Given the description of an element on the screen output the (x, y) to click on. 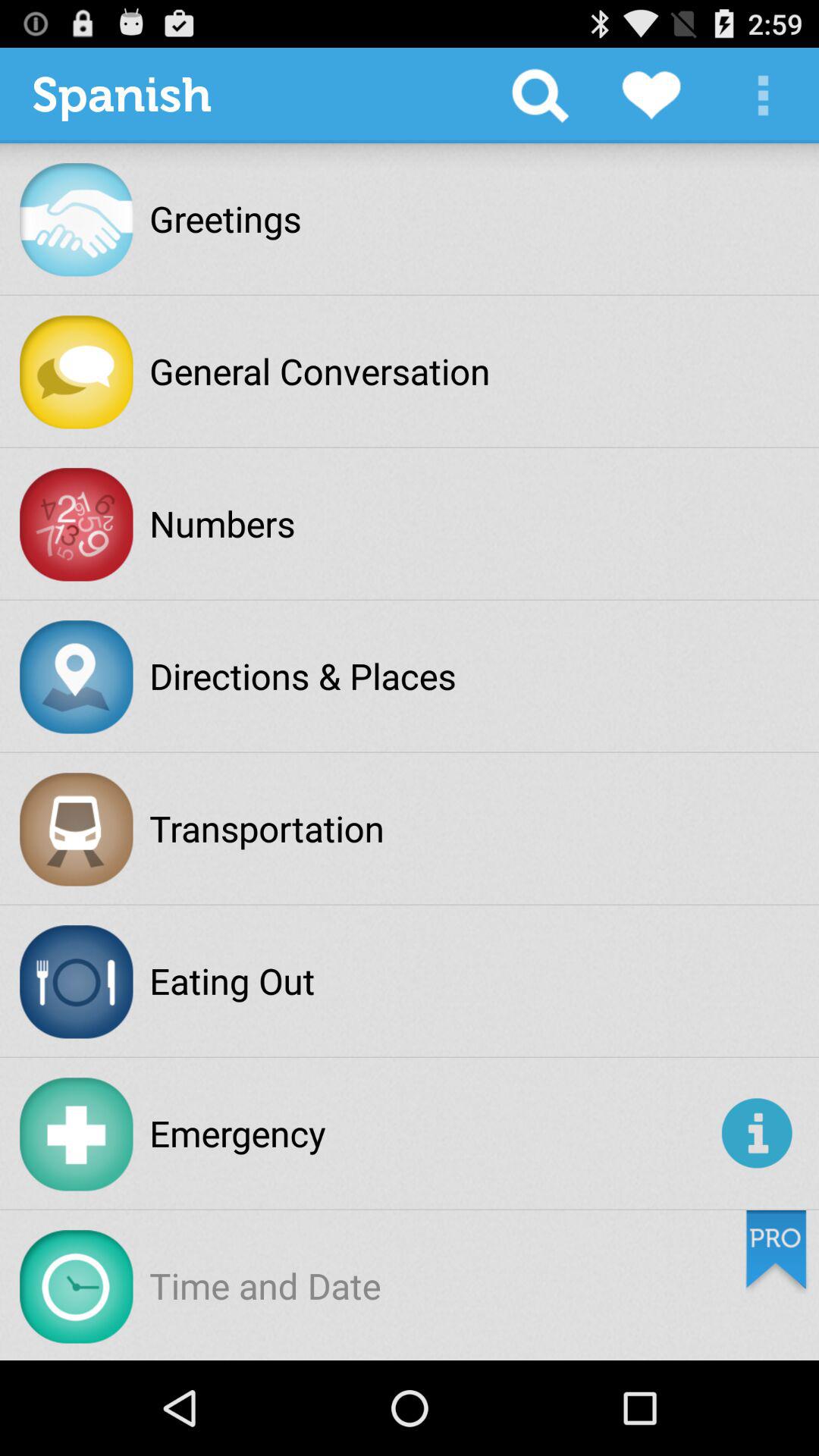
open the greetings item (225, 218)
